Given the description of an element on the screen output the (x, y) to click on. 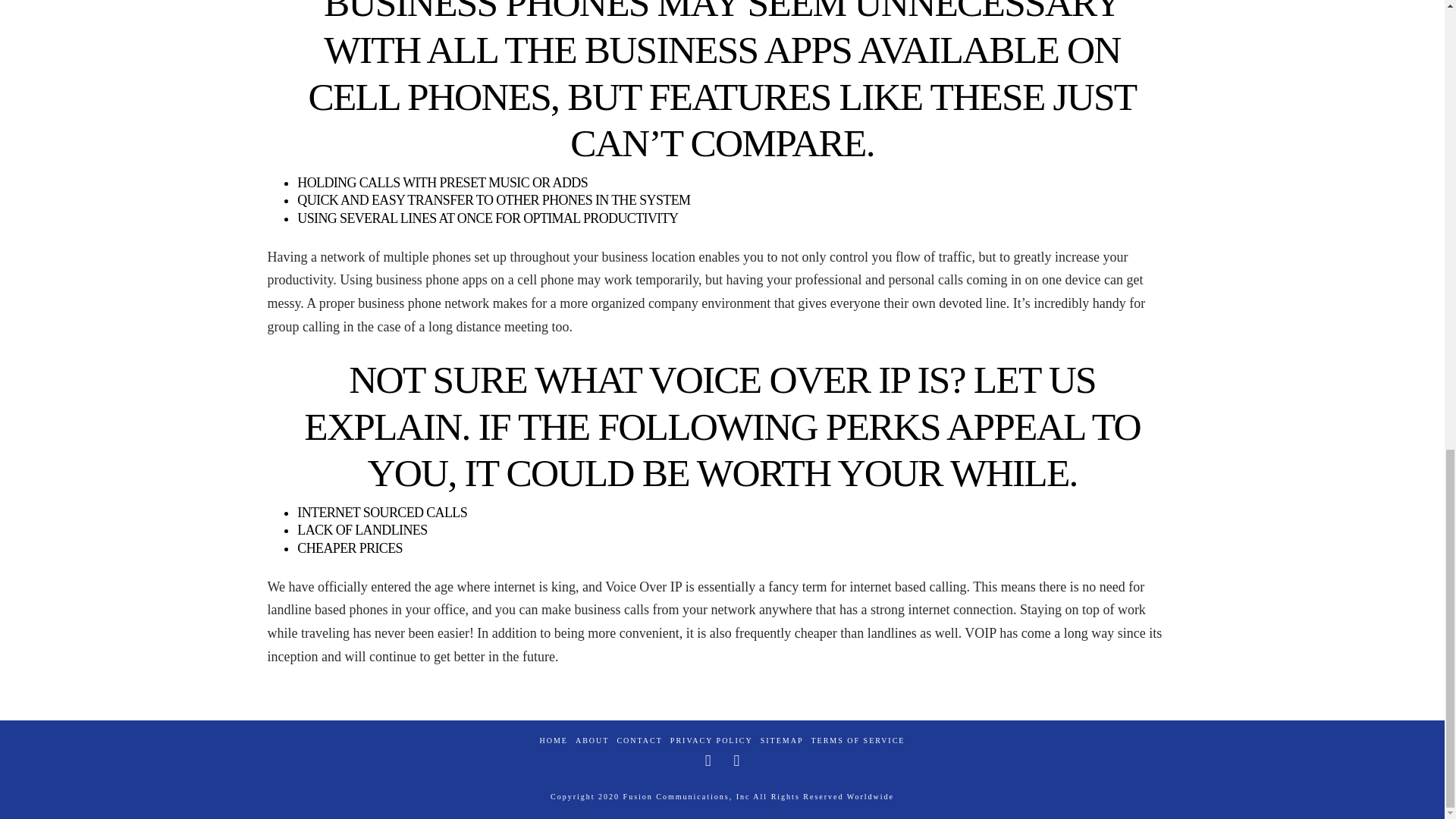
LinkedIn (736, 760)
Fusion Networking - So Cal Telecom Company (687, 796)
